Given the description of an element on the screen output the (x, y) to click on. 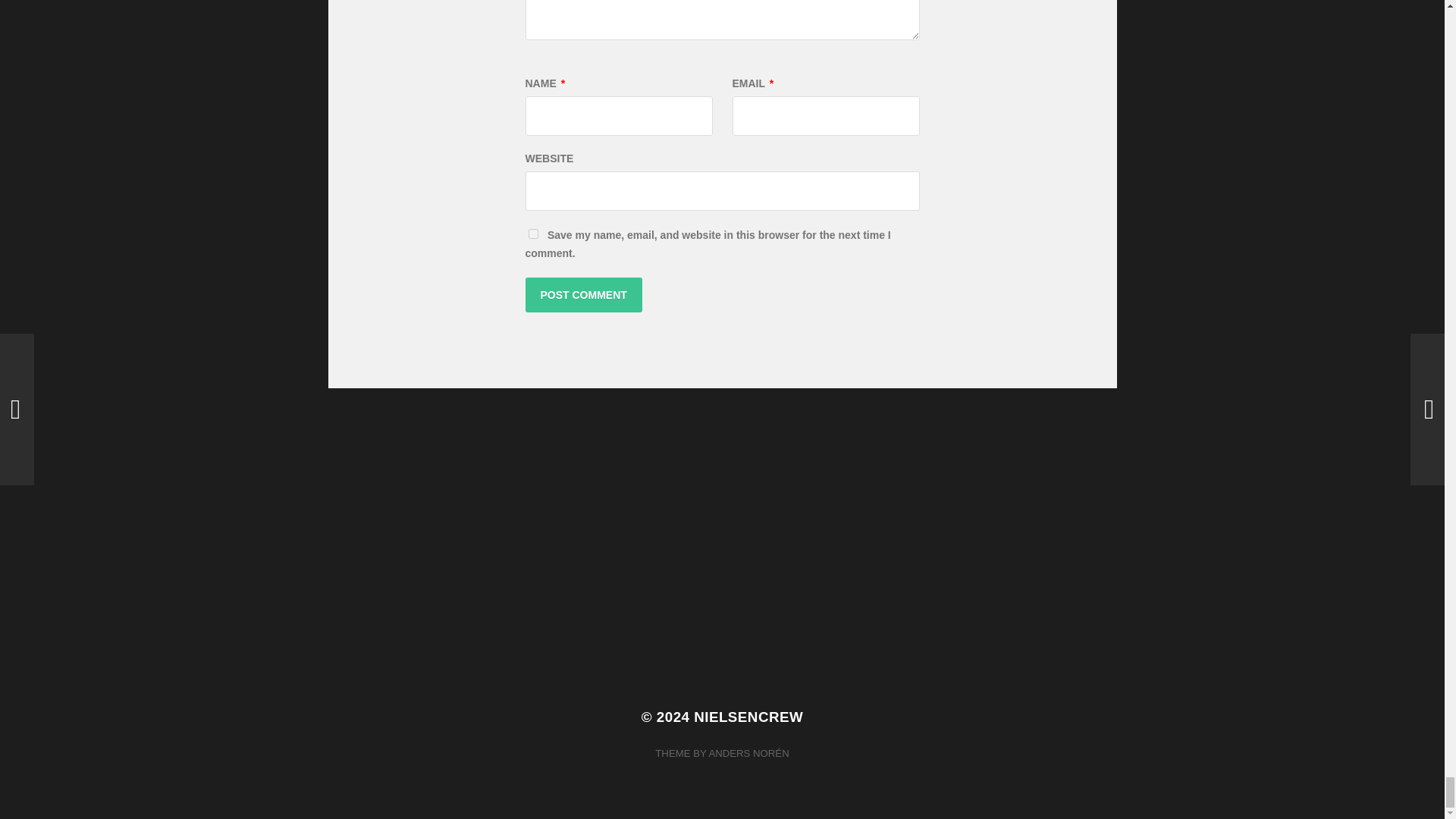
yes (532, 234)
NIELSENCREW (748, 716)
Post Comment (583, 294)
Post Comment (583, 294)
